Given the description of an element on the screen output the (x, y) to click on. 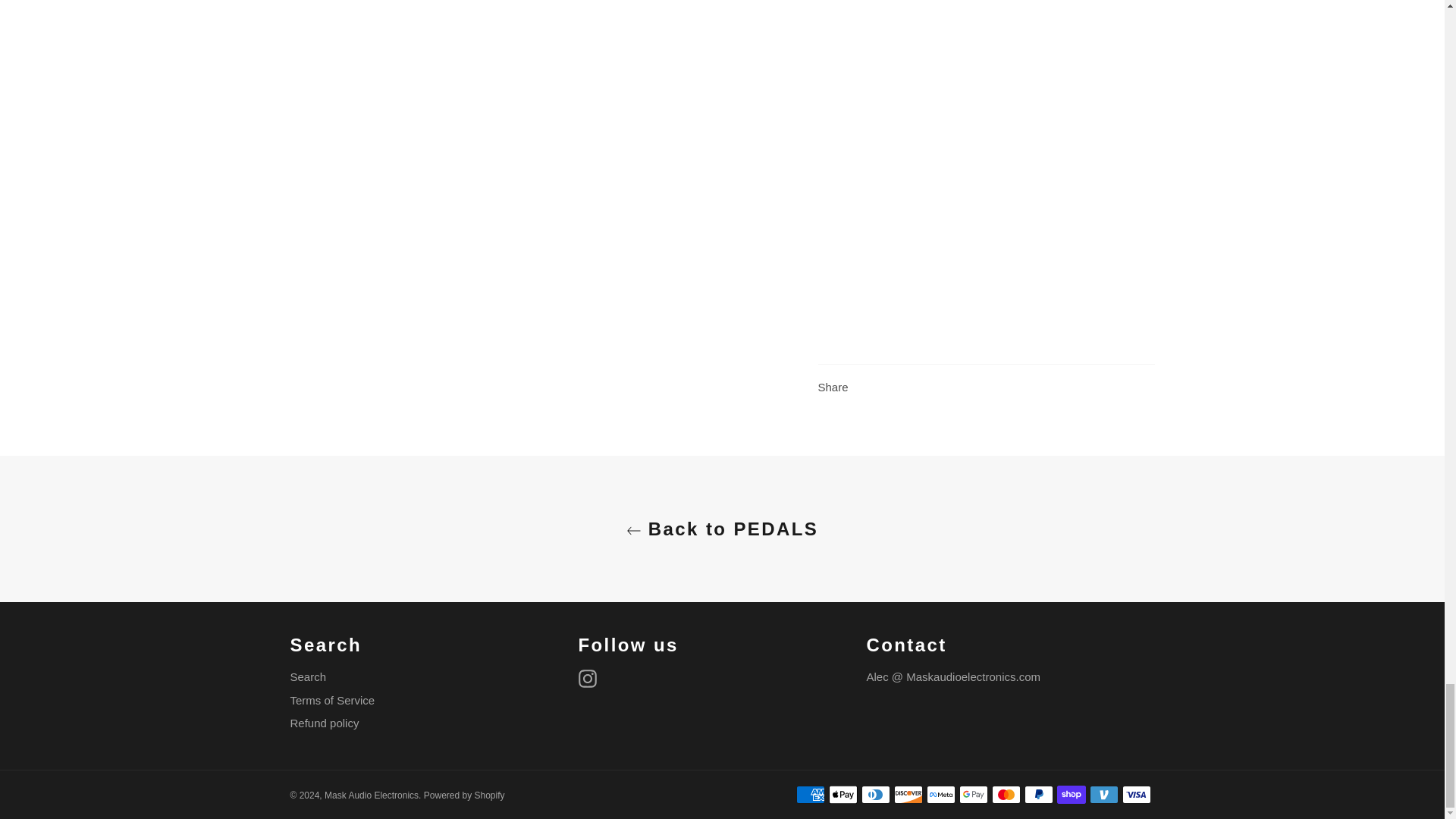
Terms of Service (331, 699)
Back to PEDALS (721, 528)
Refund policy (323, 722)
Powered by Shopify (464, 795)
Mask Audio Electronics on Instagram (591, 678)
Search (307, 676)
Instagram (591, 678)
YouTube video player (1028, 224)
Mask Audio Electronics (371, 795)
YouTube video player (1028, 50)
